Given the description of an element on the screen output the (x, y) to click on. 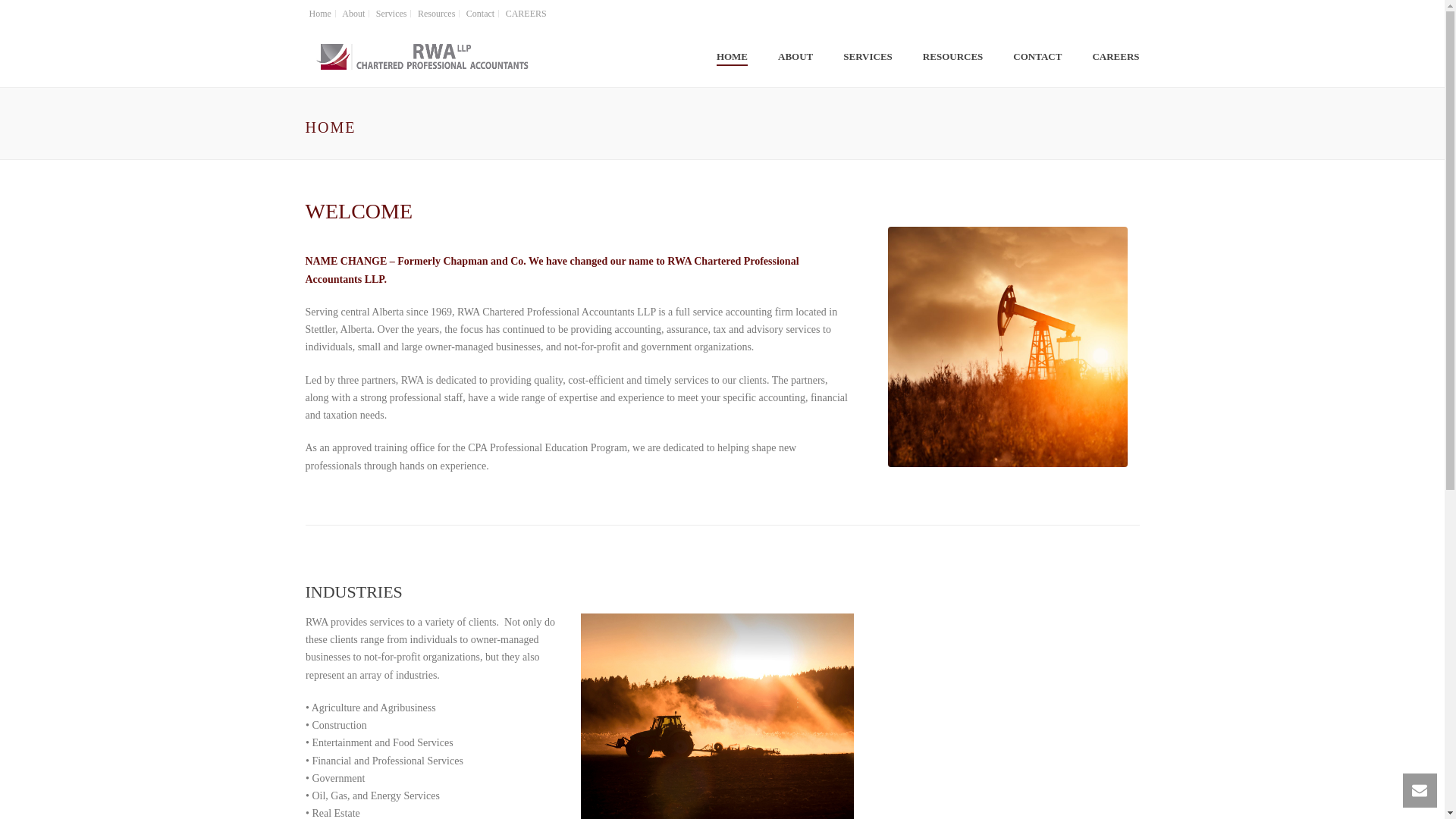
ABOUT (795, 57)
CAREERS (1115, 57)
SERVICES (867, 57)
CONTACT (1037, 57)
HOME (731, 57)
Contact (481, 13)
CAREERS (526, 13)
Home (319, 13)
RESOURCES (952, 57)
Services (392, 13)
